Given the description of an element on the screen output the (x, y) to click on. 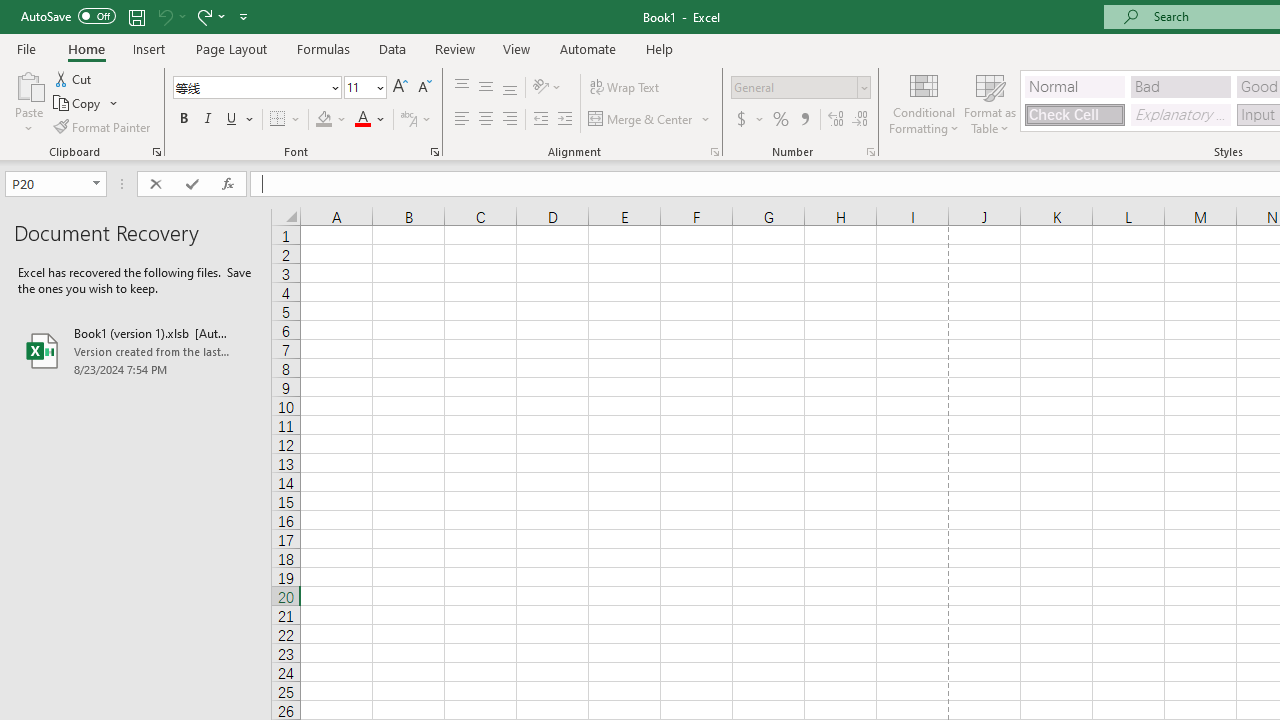
Bottom Align (509, 87)
Formulas (323, 48)
Bottom Border (278, 119)
Increase Font Size (399, 87)
Top Align (461, 87)
Accounting Number Format (741, 119)
Number Format (800, 87)
Paste (28, 84)
Book1 (version 1).xlsb  [AutoRecovered] (136, 350)
Conditional Formatting (924, 102)
Orientation (547, 87)
Review (454, 48)
Accounting Number Format (749, 119)
